Given the description of an element on the screen output the (x, y) to click on. 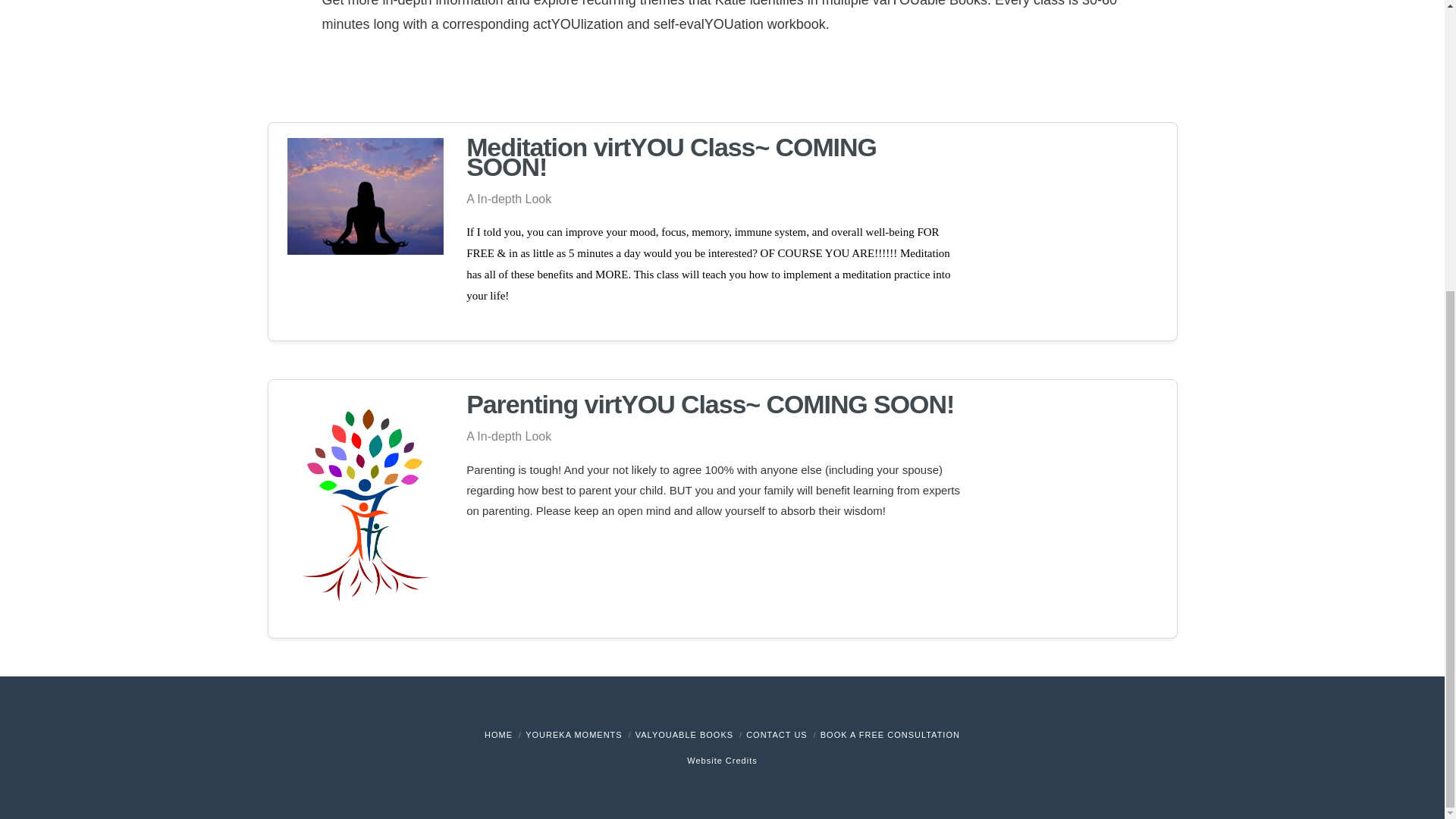
CONTACT US (776, 734)
YOUREKA MOMENTS (573, 734)
Website Credits (722, 759)
A In-depth Look (508, 436)
A In-depth Look (508, 198)
VALYOUABLE BOOKS (683, 734)
BOOK A FREE CONSULTATION (890, 734)
HOME (498, 734)
